Given the description of an element on the screen output the (x, y) to click on. 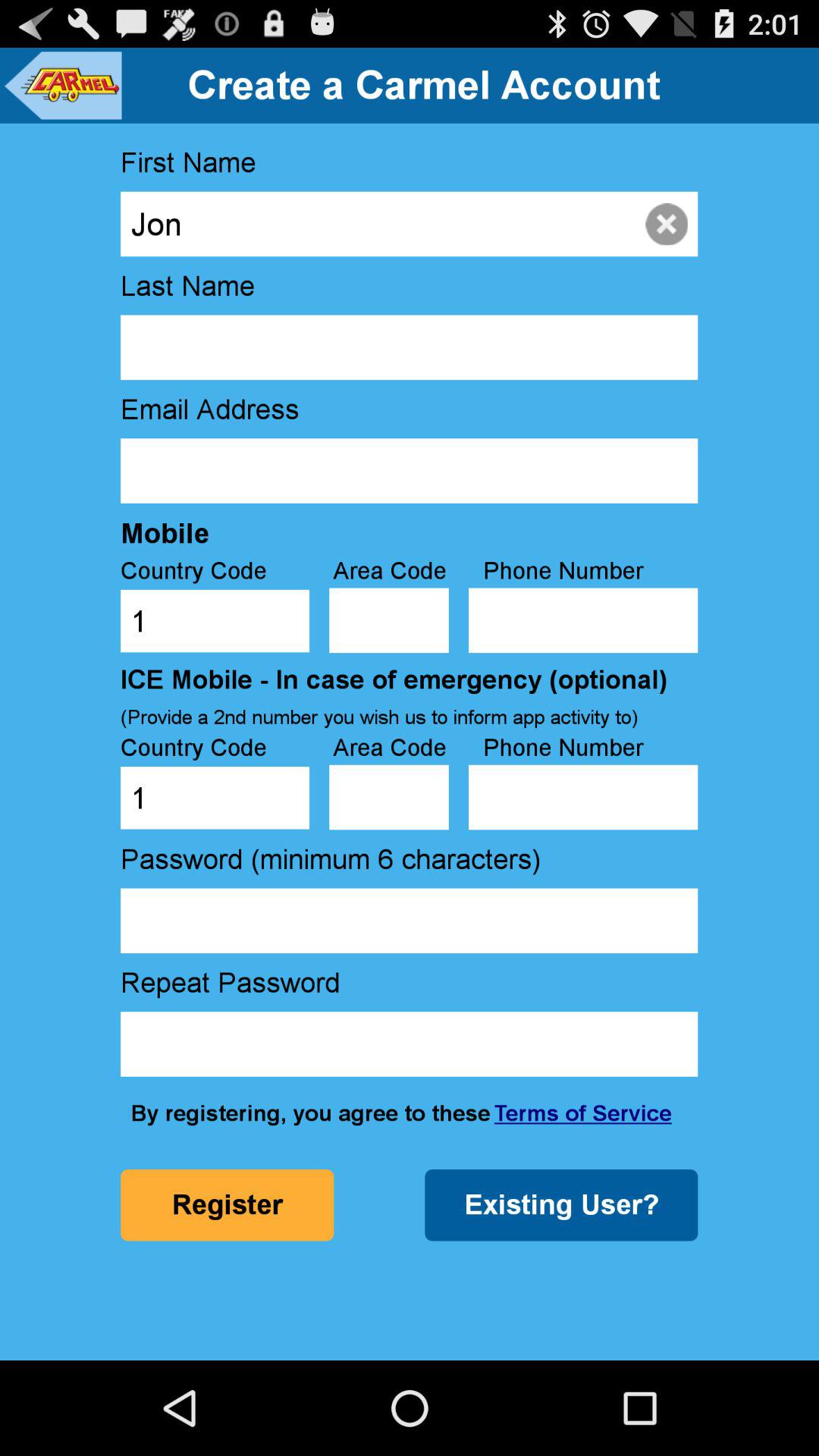
click icon to the left of create a carmel item (61, 85)
